Given the description of an element on the screen output the (x, y) to click on. 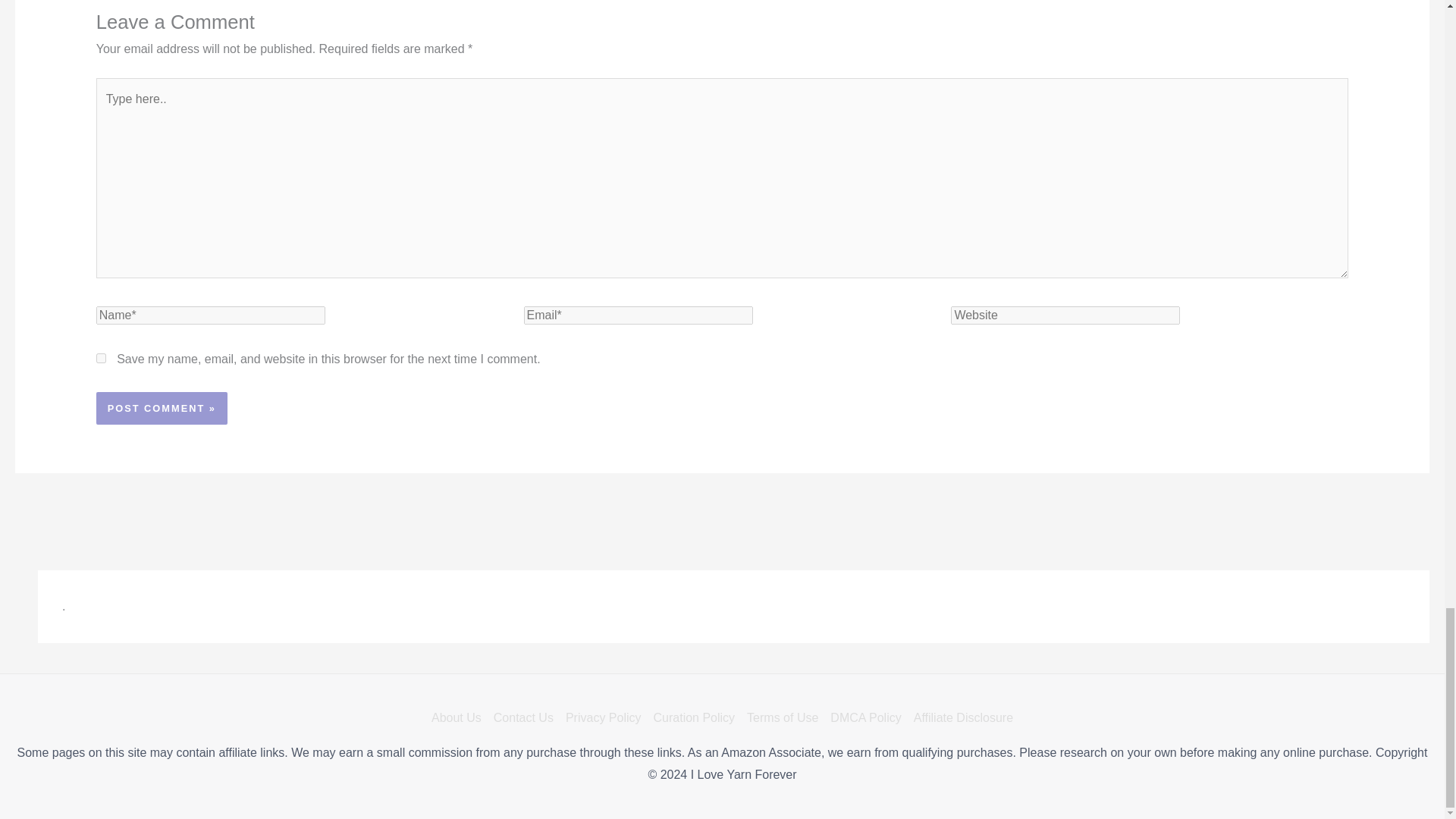
Privacy Policy (603, 717)
About Us (458, 717)
DMCA Policy (865, 717)
Contact Us (523, 717)
yes (101, 357)
Curation Policy (694, 717)
Affiliate Disclosure (960, 717)
Terms of Use (782, 717)
